Given the description of an element on the screen output the (x, y) to click on. 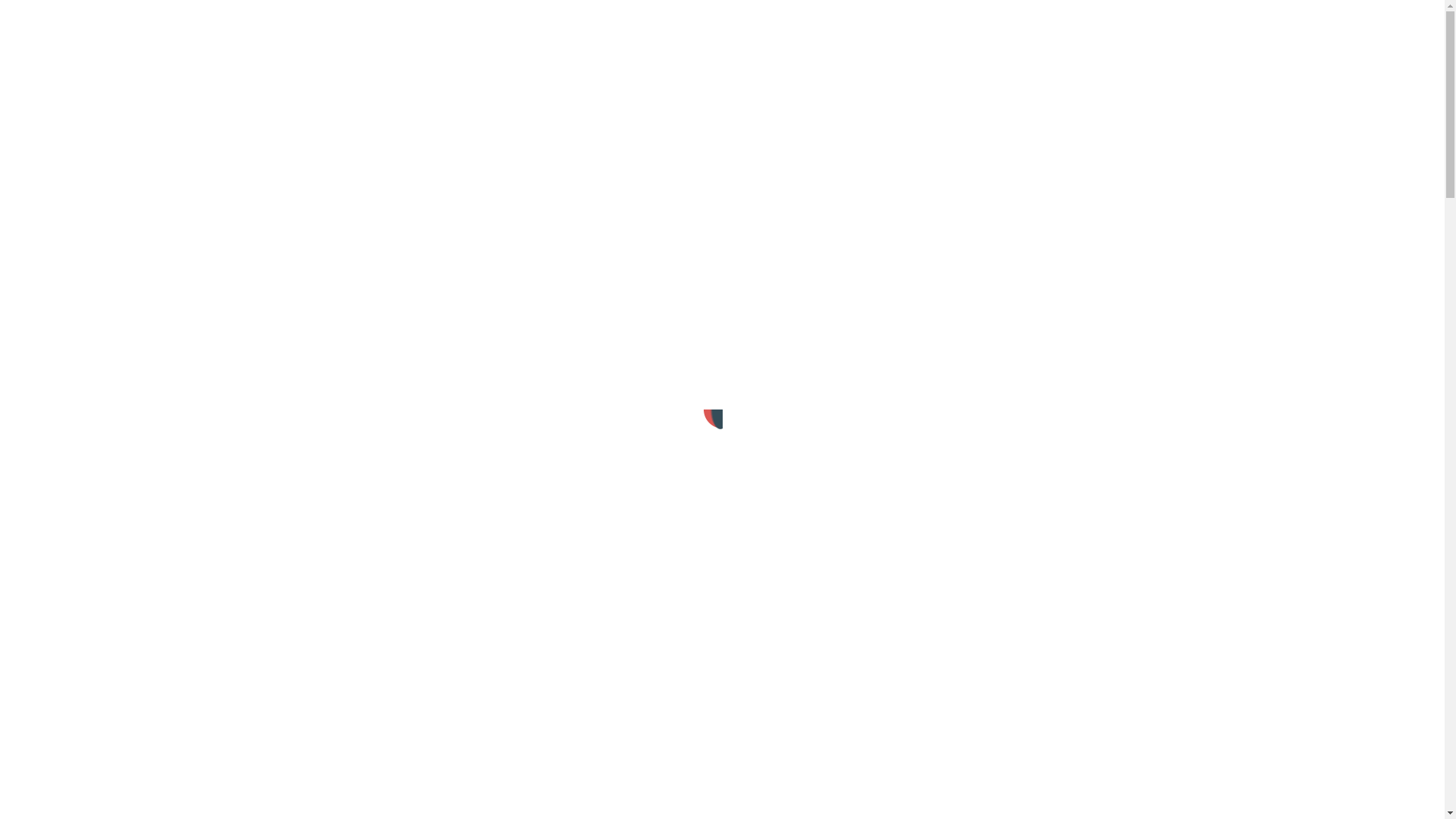
MEER WETEN Element type: text (811, 322)
VOORBEELDEN Element type: text (358, 20)
ONS TEL NR. Element type: text (81, 20)
CONTACTEER ONS Element type: text (650, 322)
WIE ZIJN WE Element type: text (537, 20)
ONZE MENING Element type: text (451, 20)
WAAROM VERKOPEN Element type: text (185, 20)
WEETJES Element type: text (280, 20)
CONTACTEER ONS Element type: text (634, 20)
